Given the description of an element on the screen output the (x, y) to click on. 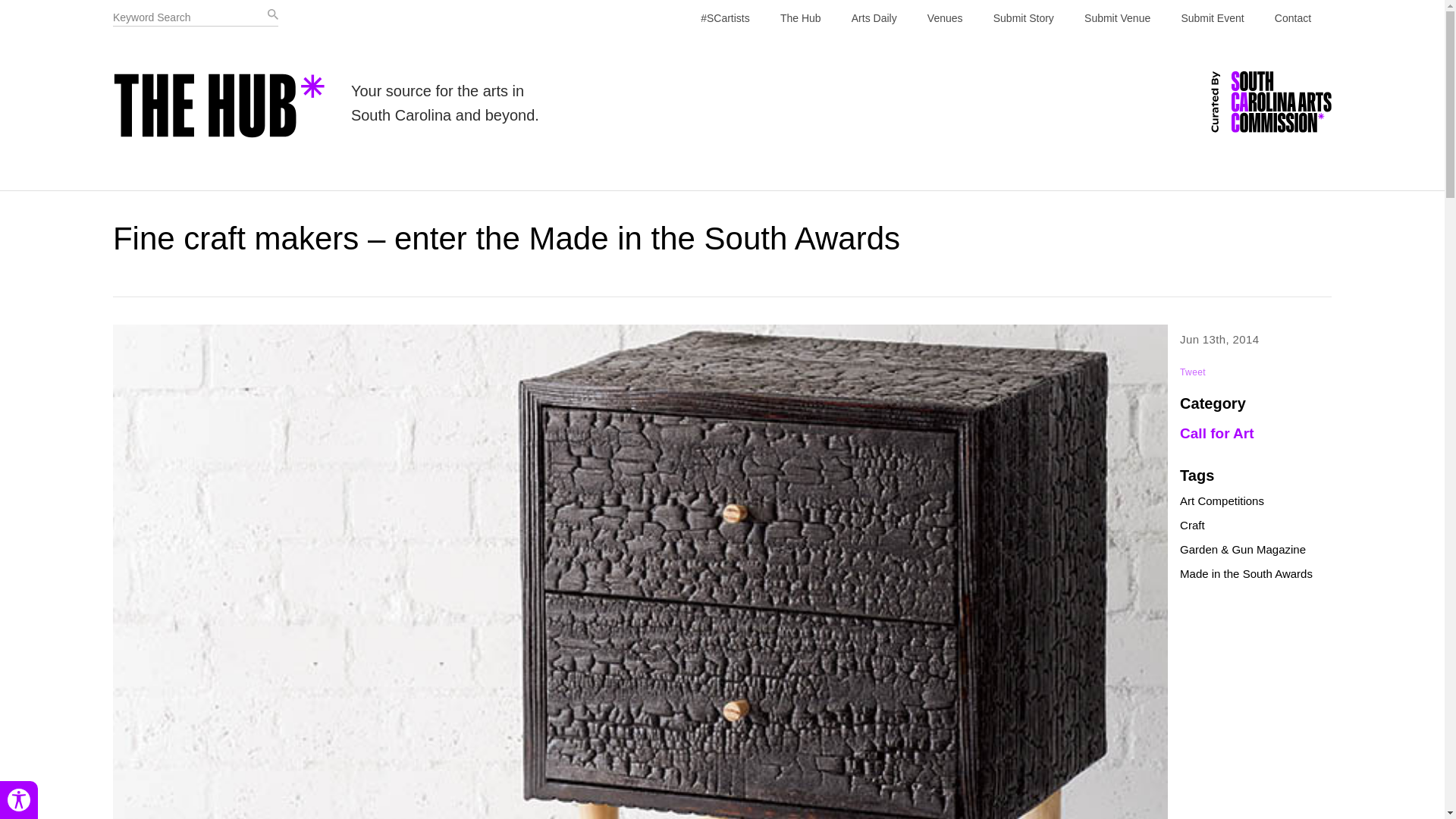
Contact (1292, 18)
Submit Event (1211, 18)
Tweet (1192, 371)
Venues (944, 18)
Submit Venue (1117, 18)
Call for Art (1216, 433)
Submit Story (1024, 18)
Made in the South Awards (1246, 573)
Art Competitions (1221, 500)
Arts Daily (874, 18)
Toggle Accessibility Panel (18, 800)
The Hub (800, 18)
Craft (1192, 524)
